Given the description of an element on the screen output the (x, y) to click on. 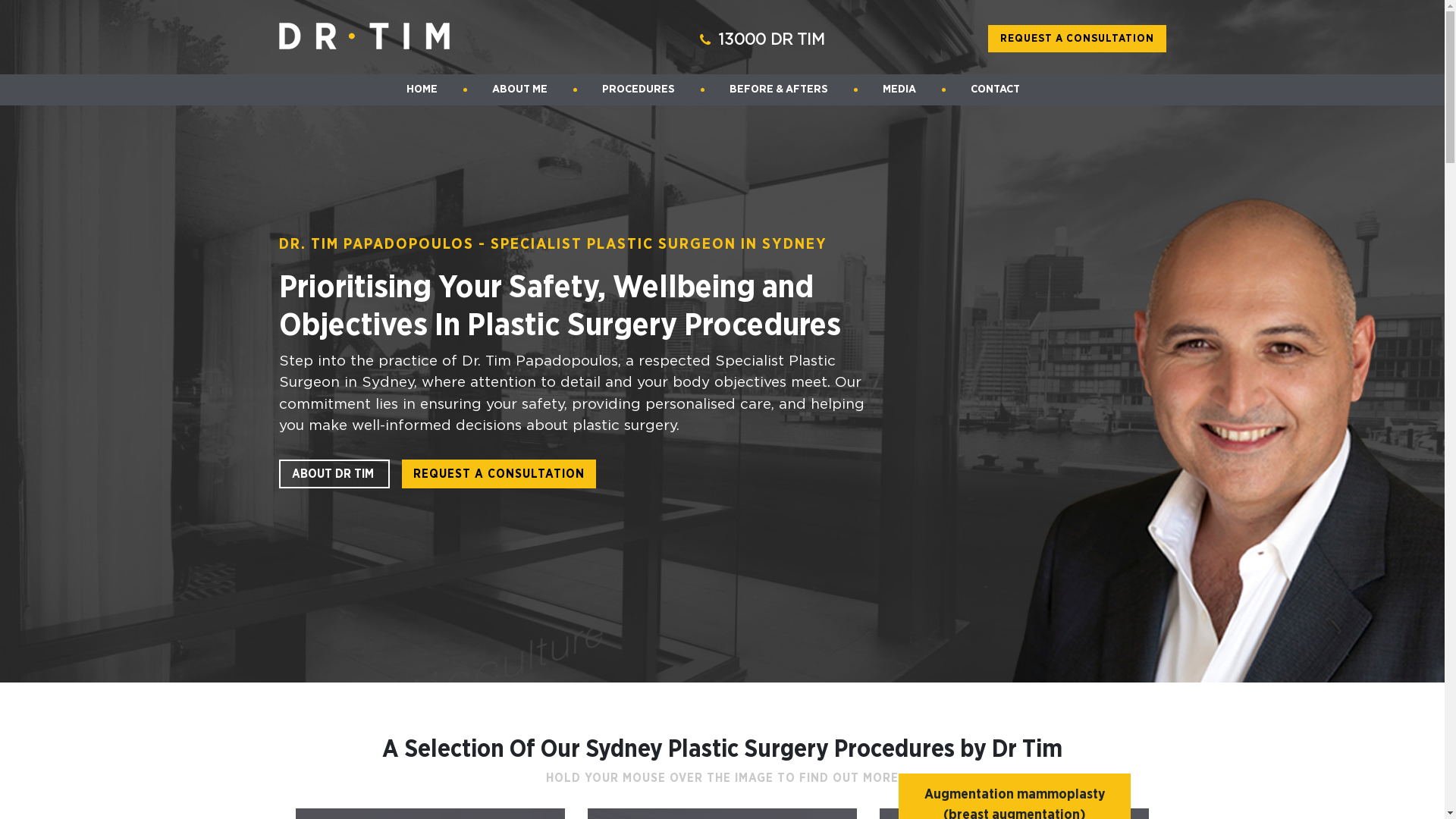
PROCEDURES Element type: text (638, 89)
REQUEST A CONSULTATION Element type: text (498, 473)
BEFORE & AFTERS Element type: text (778, 89)
CONTACT Element type: text (995, 89)
13000 DR TIM Element type: text (761, 40)
MEDIA Element type: text (899, 89)
HOME Element type: text (430, 89)
REQUEST A CONSULTATION Element type: text (1076, 38)
ABOUT DR TIM Element type: text (334, 473)
ABOUT ME Element type: text (519, 89)
